Given the description of an element on the screen output the (x, y) to click on. 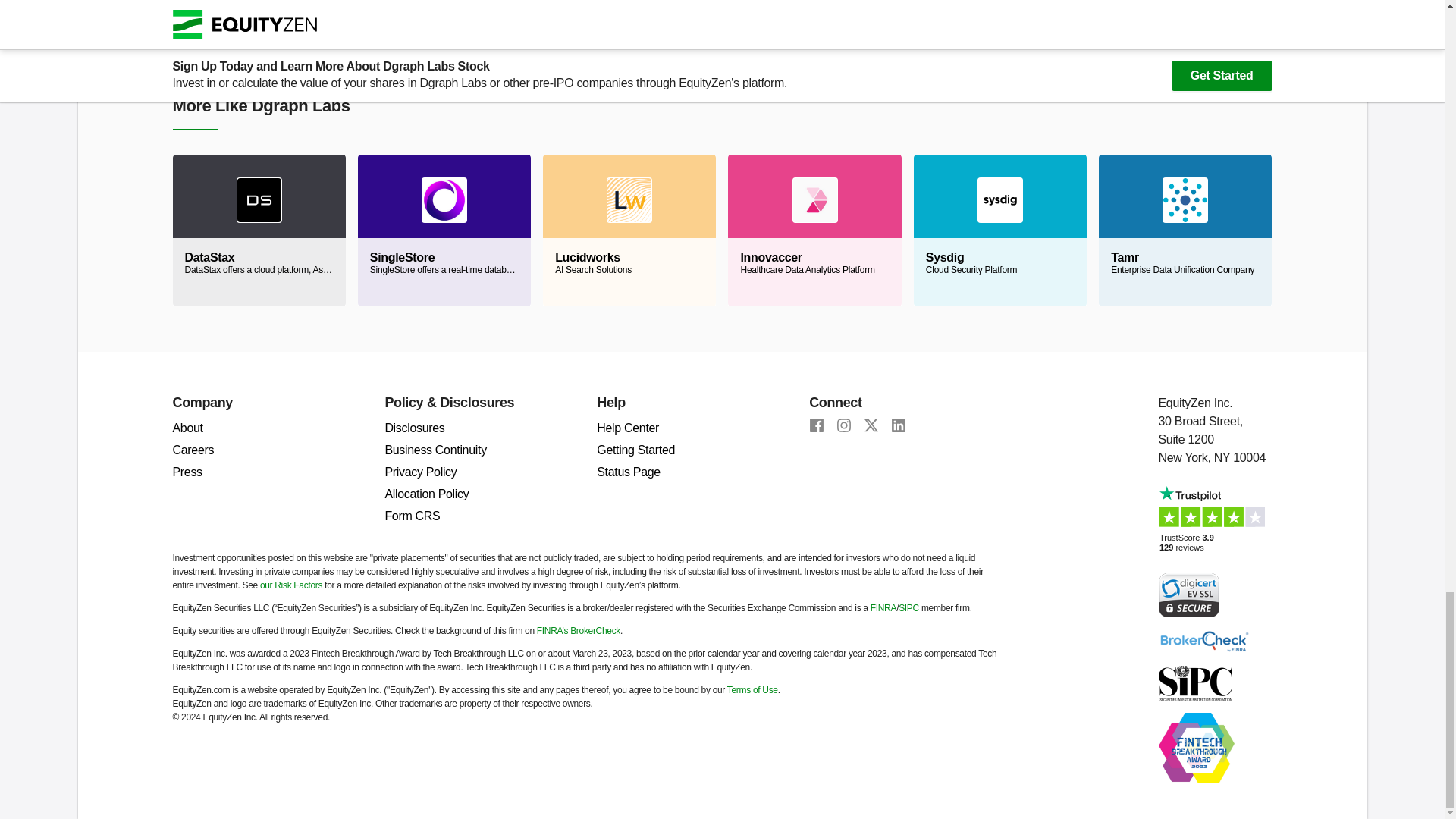
FINRA's BrokerCheck (1203, 640)
Allocation Policy (426, 493)
Customer reviews powered by Trustpilot (1215, 523)
Getting Started (635, 449)
Form CRS (411, 515)
Business Continuity (435, 449)
Getting Started (635, 449)
Disclosures (414, 427)
About (629, 230)
Allocation Policy (188, 427)
Careers (426, 493)
our Risk Factors (193, 449)
